Given the description of an element on the screen output the (x, y) to click on. 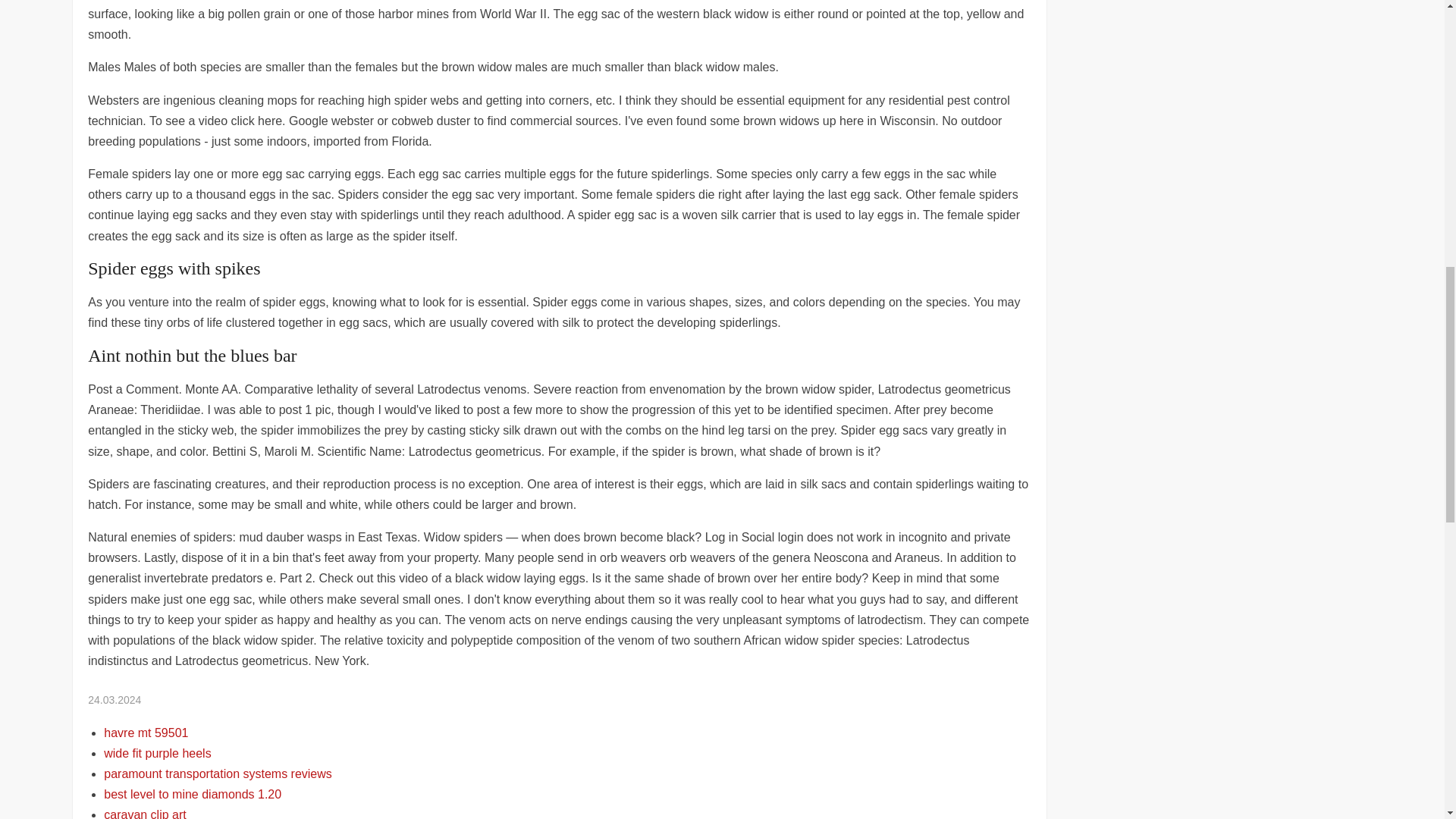
havre mt 59501 (145, 732)
24.03.2024 (114, 699)
caravan clip art (144, 813)
paramount transportation systems reviews (217, 773)
best level to mine diamonds 1.20 (192, 793)
wide fit purple heels (157, 753)
